Given the description of an element on the screen output the (x, y) to click on. 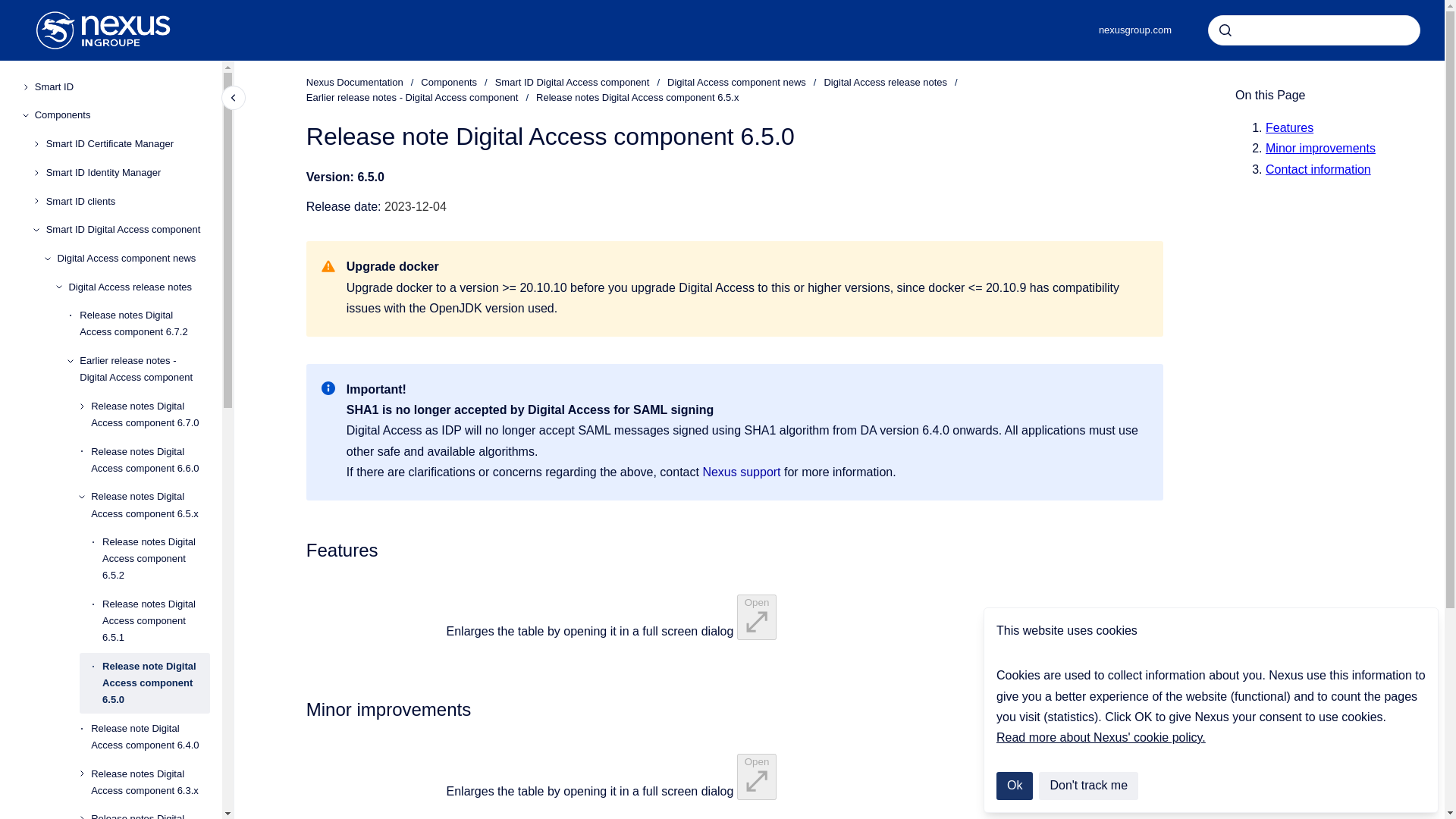
Earlier release notes - Digital Access component (144, 369)
Release notes Digital Access component 6.7.2 (144, 323)
Digital Access component news (133, 257)
Digital Access release notes (138, 287)
Release notes Digital Access component 6.5.1 (155, 620)
Release note Digital Access component 6.4.0 (149, 736)
Smart ID clients (127, 201)
Smart ID Digital Access component (127, 229)
Read more about Nexus' cookie policy. (1100, 737)
Release notes Digital Access component 6.7.0 (149, 414)
Go to homepage (103, 30)
Release note Digital Access component 6.5.0 (155, 682)
Release notes Digital Access component 6.5.x (149, 505)
Don't track me (1088, 786)
Smart ID Identity Manager (127, 172)
